Given the description of an element on the screen output the (x, y) to click on. 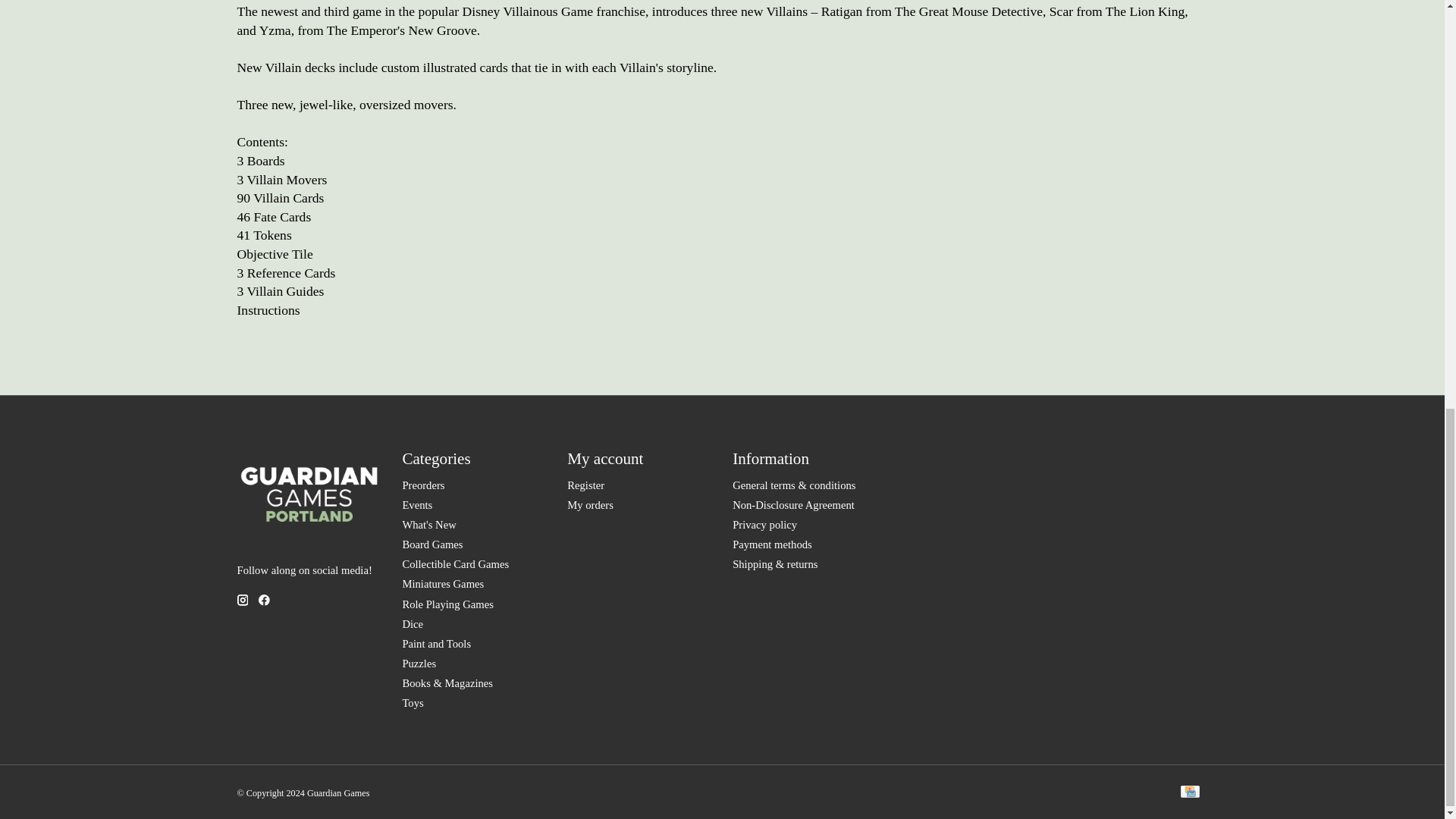
My orders (589, 504)
Register (585, 485)
Payment methods (772, 544)
Credit Card (1188, 792)
Privacy policy (764, 524)
Non-Disclosure Agreement (793, 504)
